Given the description of an element on the screen output the (x, y) to click on. 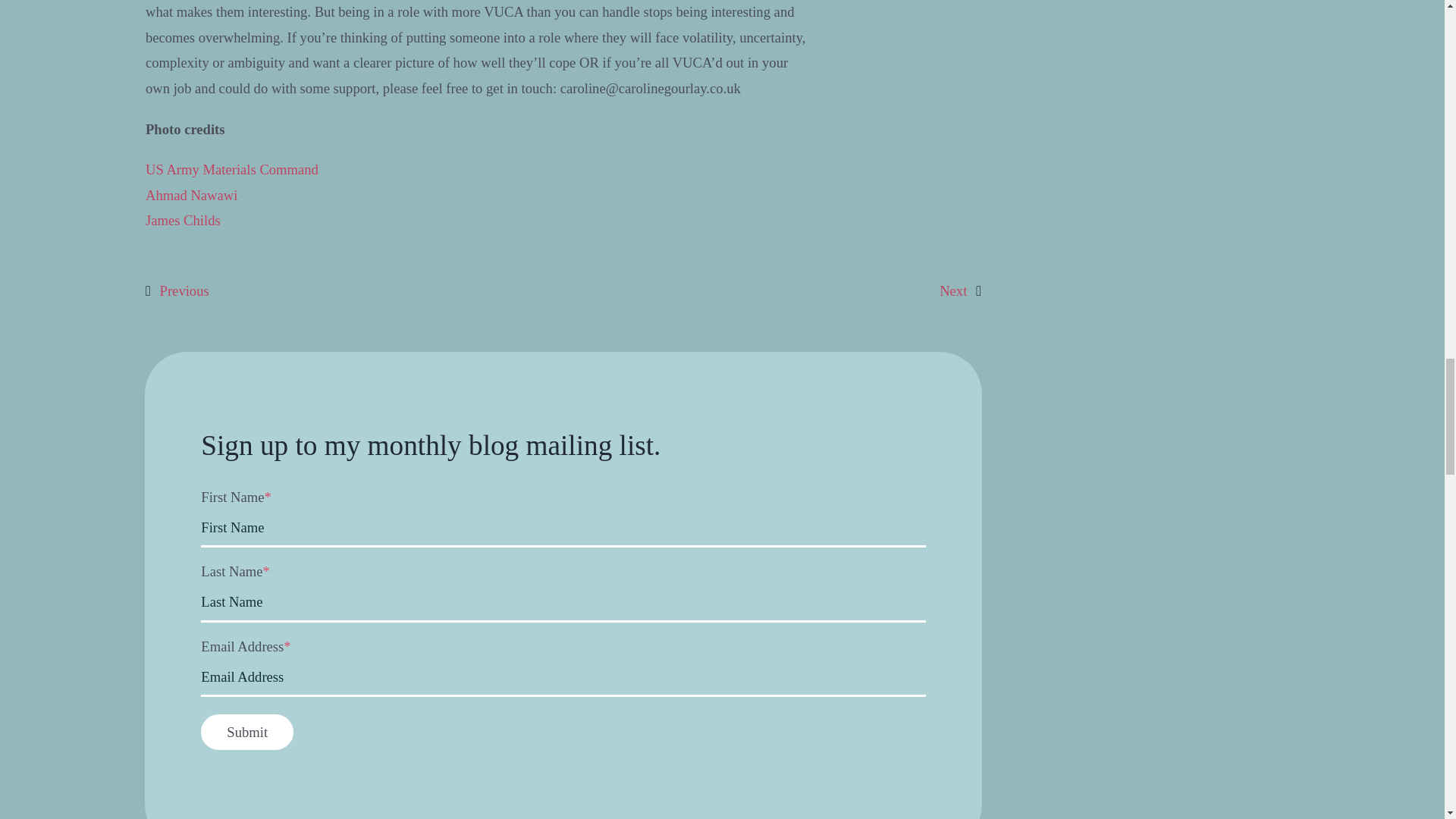
Ahmad Nawawi (191, 195)
James Childs (183, 220)
Submit (247, 732)
US Army Materials Command (231, 169)
Submit (247, 732)
Previous (177, 290)
Next (960, 290)
